Given the description of an element on the screen output the (x, y) to click on. 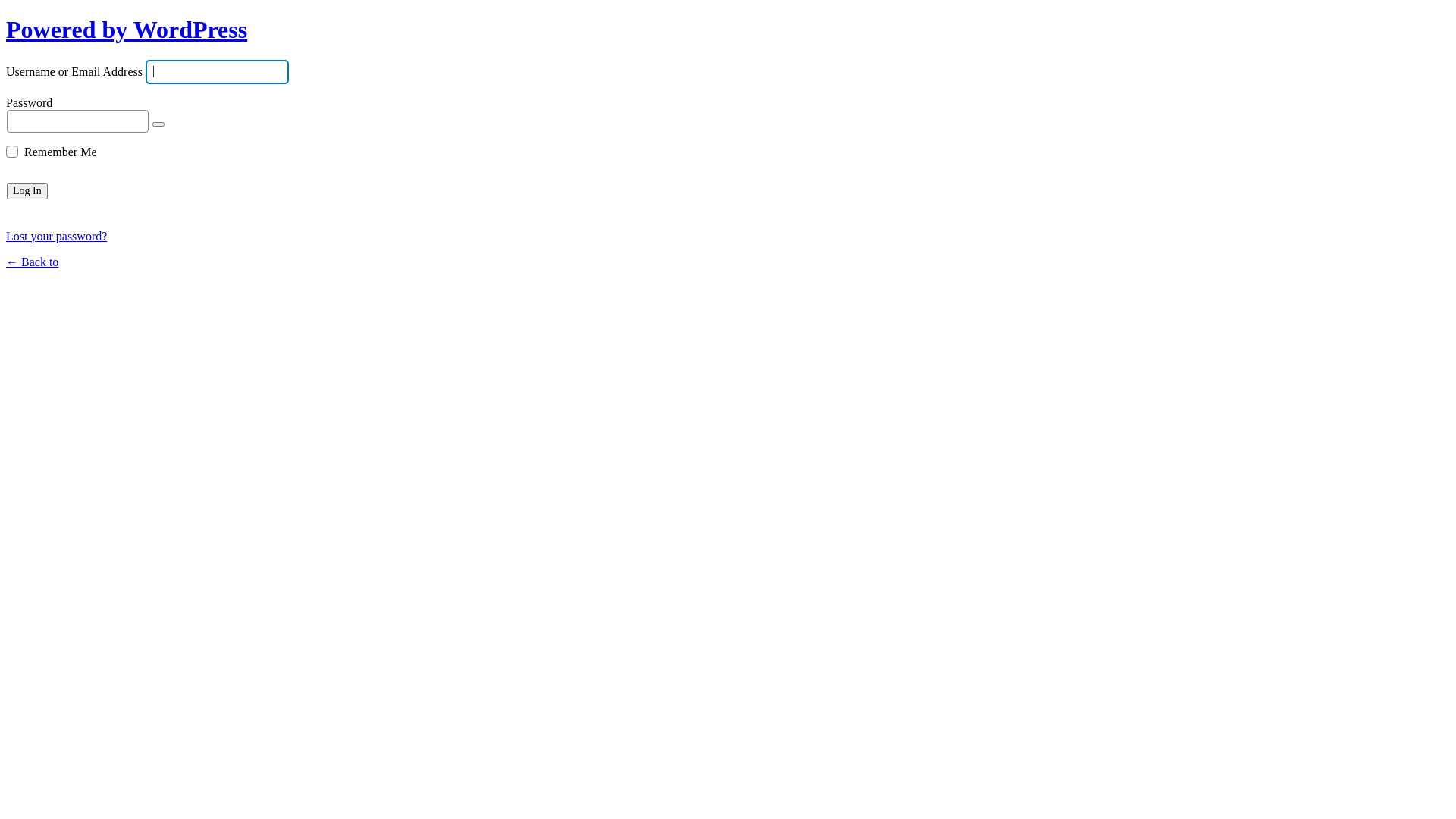
Powered by WordPress Element type: text (126, 29)
Log In Element type: text (26, 190)
Lost your password? Element type: text (56, 235)
